Given the description of an element on the screen output the (x, y) to click on. 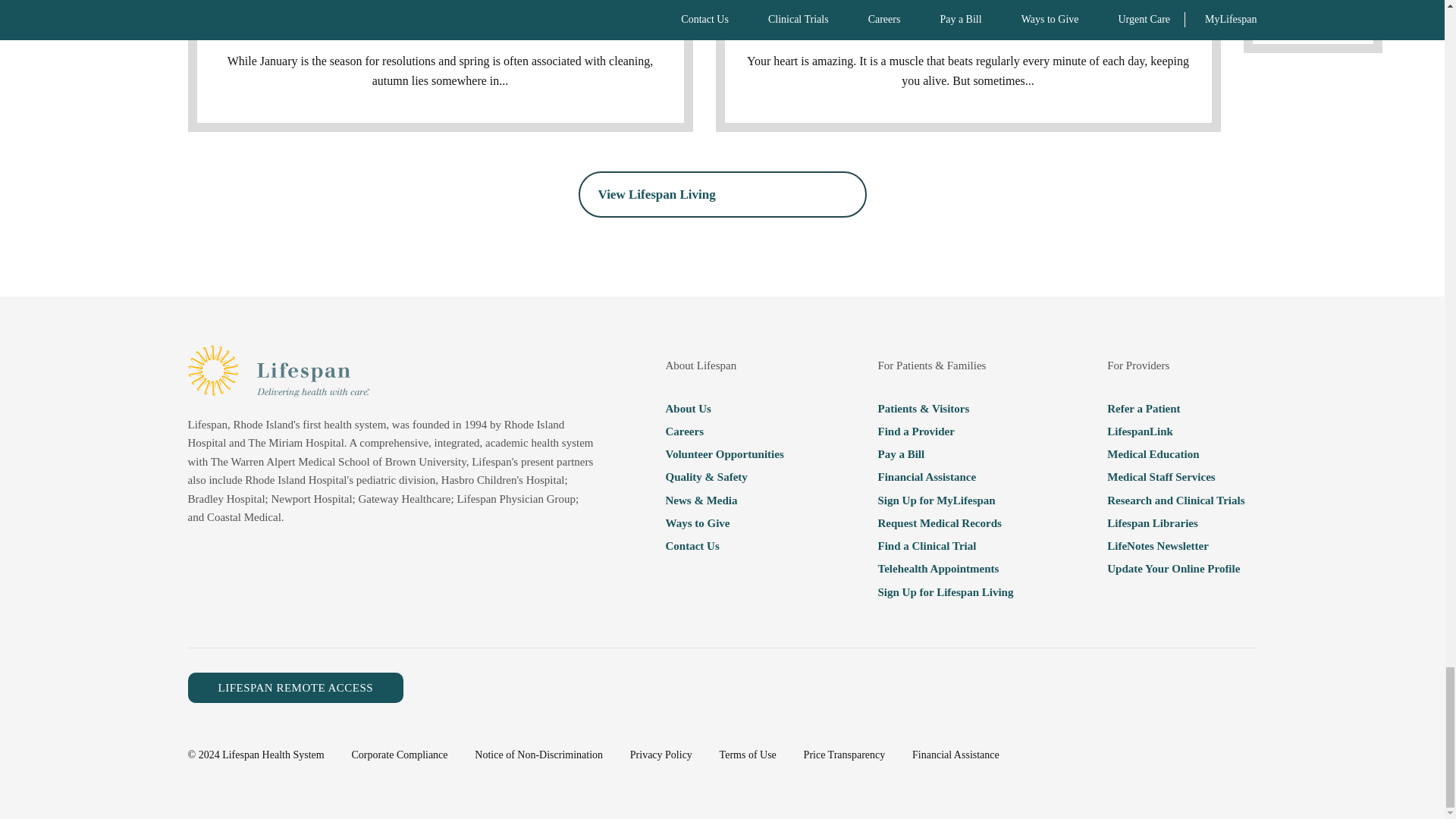
Find a Lifespan provider (945, 431)
Ways to give to Lifespan hospitals (724, 523)
Pay a bill online (945, 454)
How to request medical records (945, 523)
View Lifespan Living (722, 193)
Sign up or access the MyLifespan online patient portal (945, 500)
How to participate in a telehealth appointment (945, 568)
Information about financial assistance (945, 476)
Sign up for the Lifespan Living e-newsletter (945, 591)
